Given the description of an element on the screen output the (x, y) to click on. 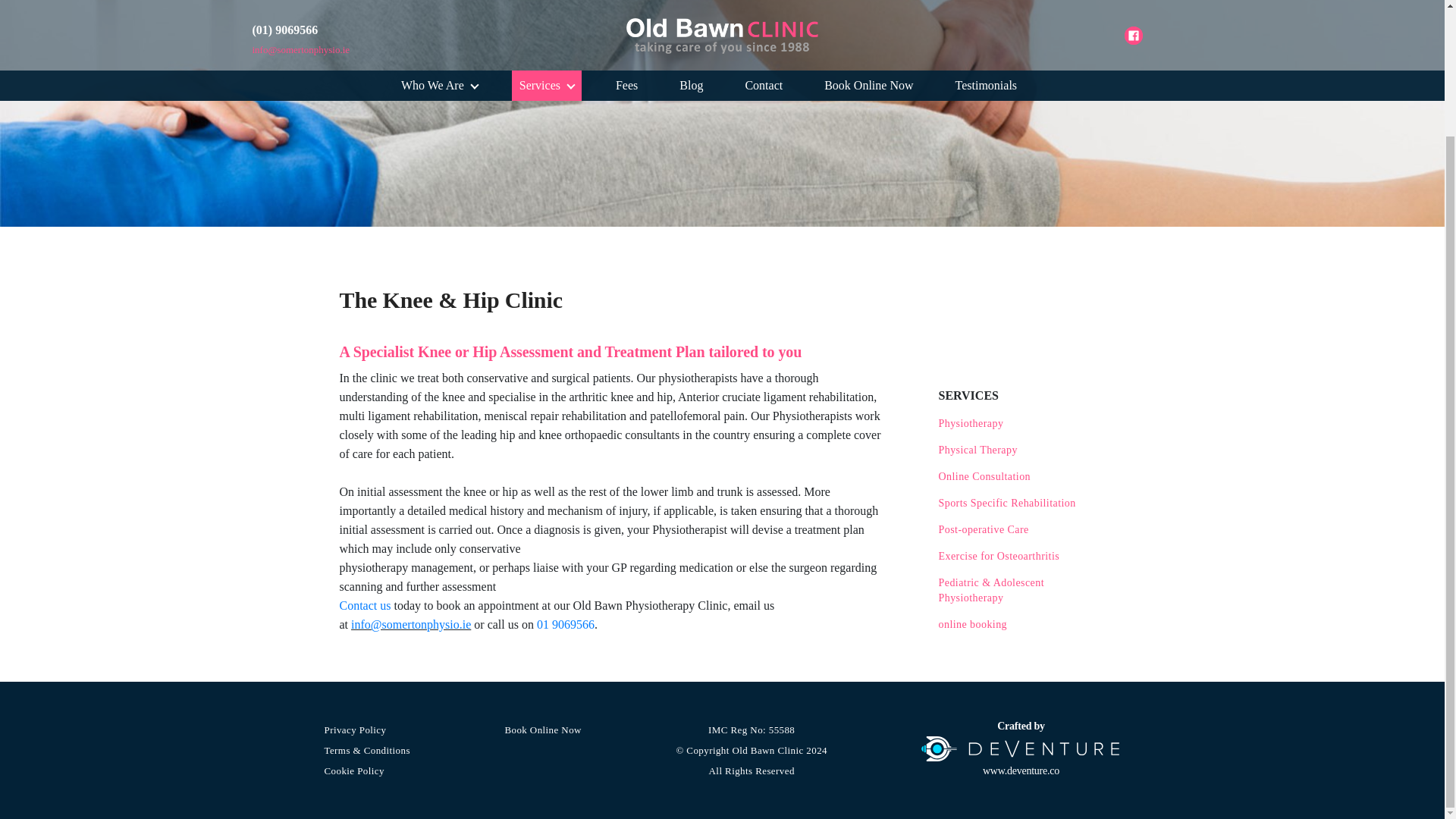
Contact us (365, 604)
online booking (1022, 624)
Online Consultation (1022, 476)
Privacy Policy (367, 729)
Exercise for Osteoarthritis (1022, 556)
Sports Specific Rehabilitation (1022, 503)
01 9069566 (565, 624)
Book Online Now (541, 729)
Cookie Policy (367, 770)
Physiotherapy (1022, 423)
